Given the description of an element on the screen output the (x, y) to click on. 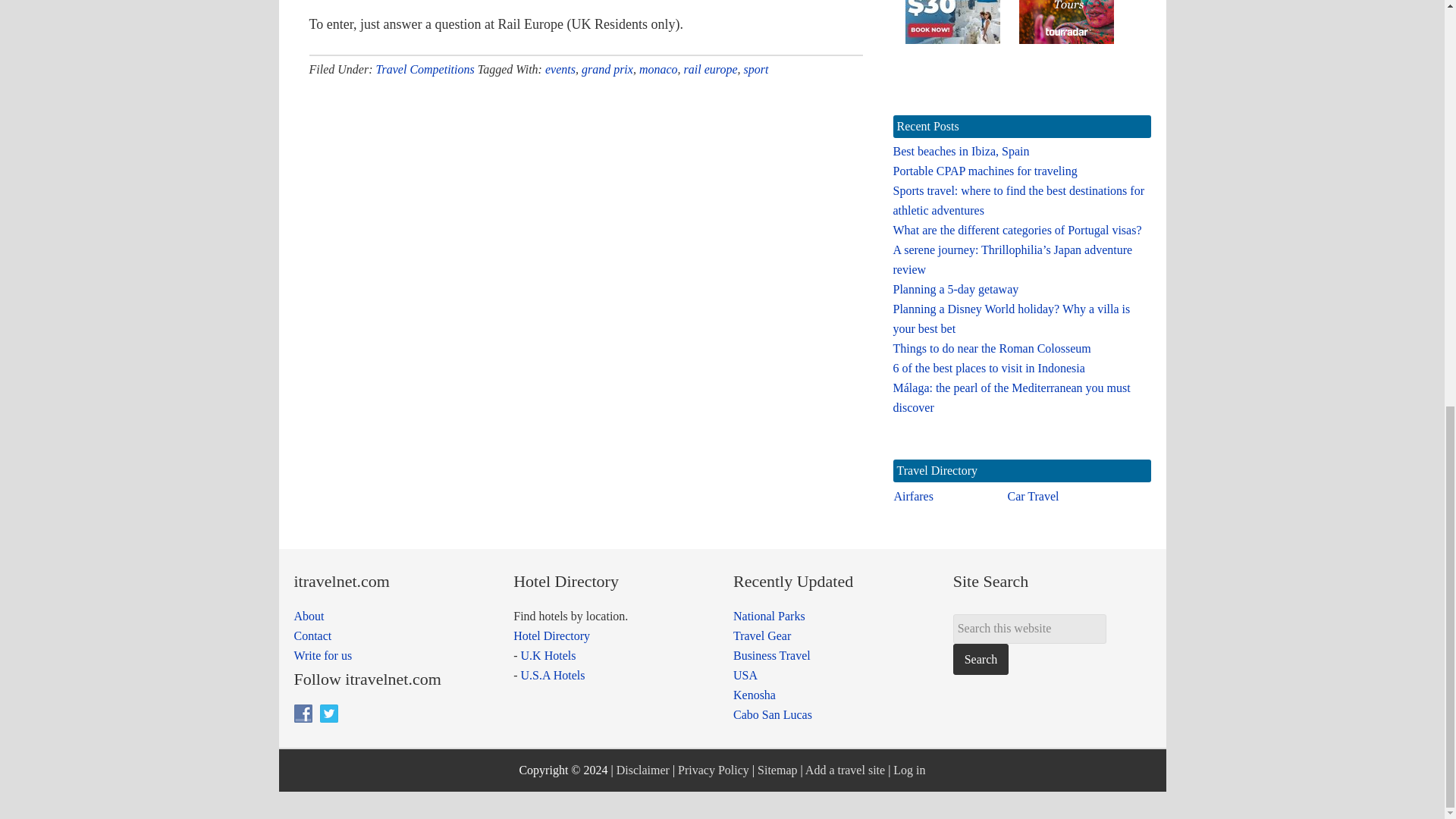
6 of the best places to visit in Indonesia (988, 367)
Search (981, 658)
events (559, 69)
monaco (658, 69)
Things to do near the Roman Colosseum (991, 348)
Follow Us on Facebook (303, 713)
What are the different categories of Portugal visas? (1017, 229)
grand prix (606, 69)
Car Travel (1032, 495)
Best beaches in Ibiza, Spain (961, 151)
rail europe (711, 69)
sport (756, 69)
Planning a 5-day getaway (956, 288)
